Given the description of an element on the screen output the (x, y) to click on. 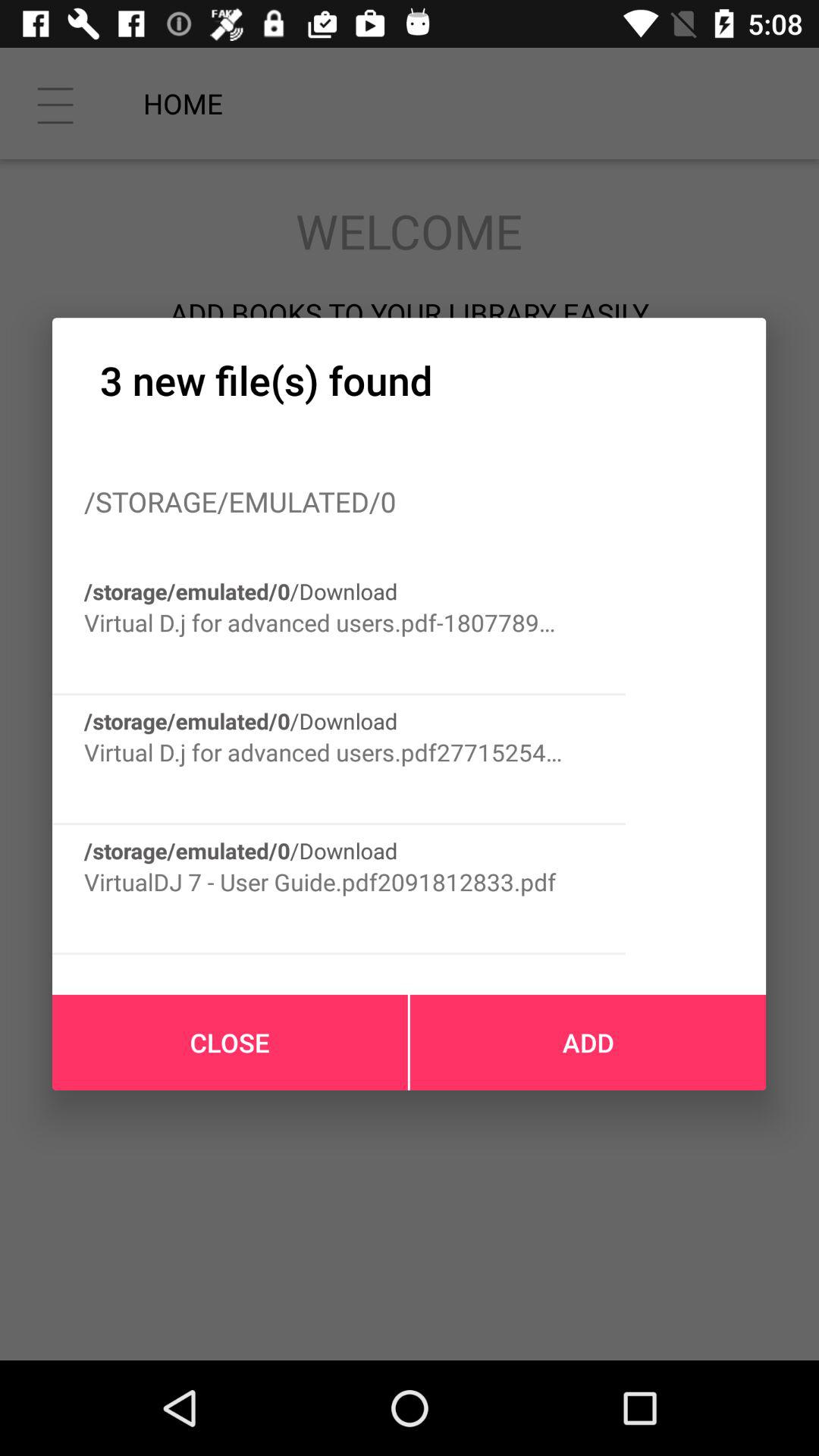
launch the icon at the bottom left corner (229, 1042)
